Given the description of an element on the screen output the (x, y) to click on. 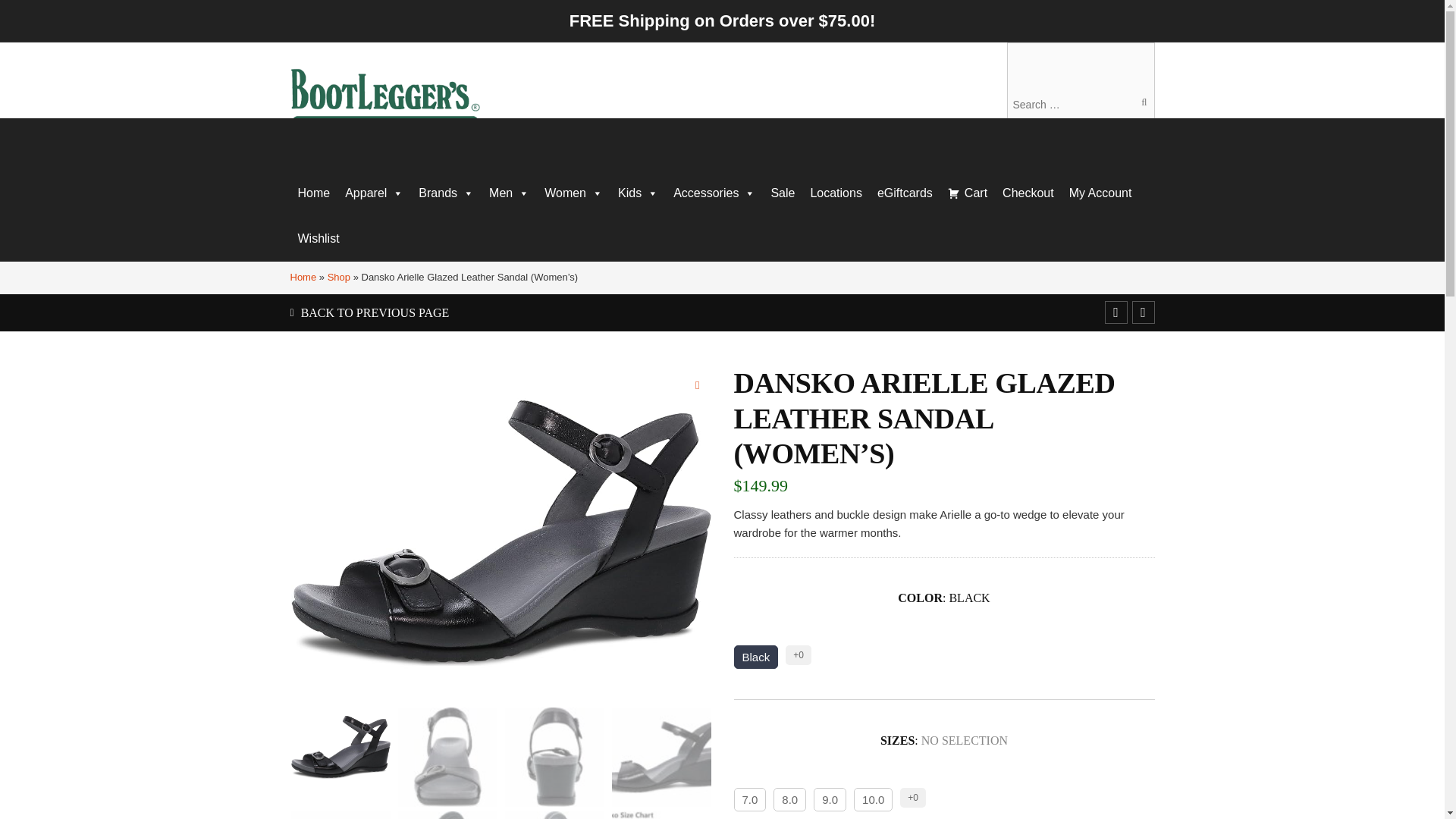
Brands (445, 193)
Apparel (373, 193)
Search (1140, 101)
Search (1140, 101)
Search (1140, 101)
Home (313, 193)
